Given the description of an element on the screen output the (x, y) to click on. 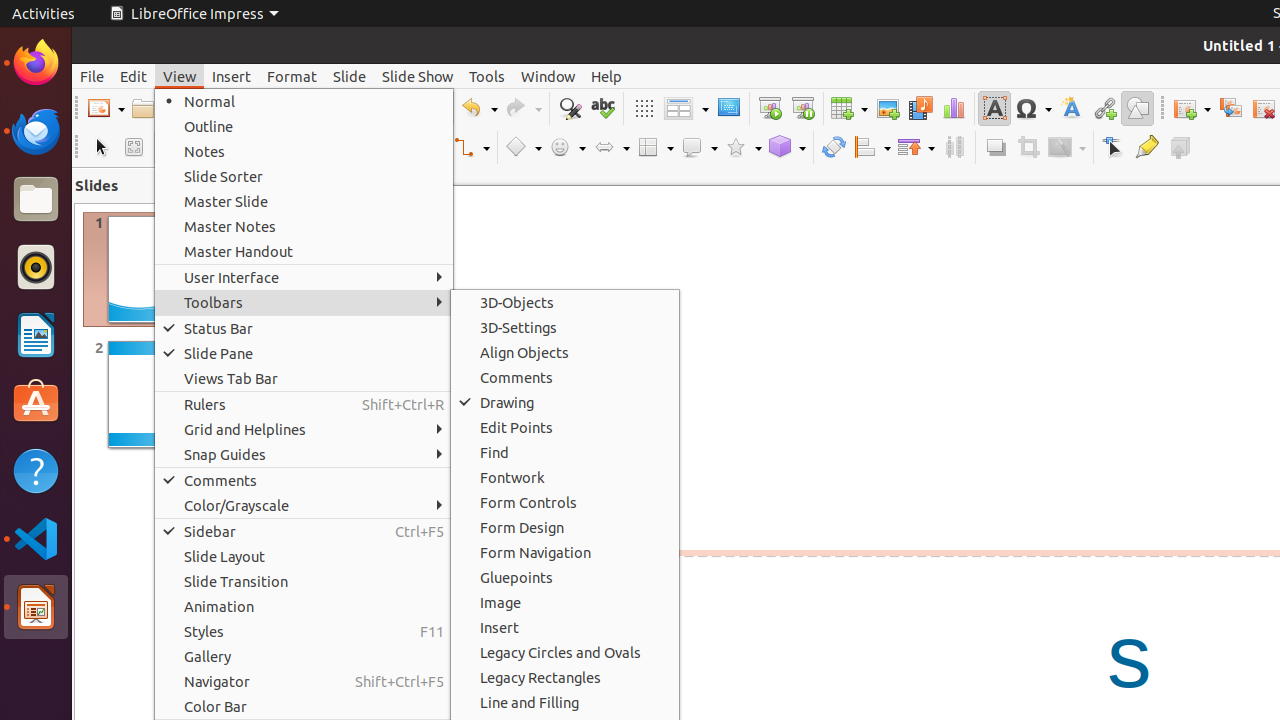
Align Objects Element type: check-menu-item (565, 352)
LibreOffice Impress Element type: push-button (36, 607)
Files Element type: push-button (36, 199)
Notes Element type: radio-menu-item (304, 151)
Slide Pane Element type: check-menu-item (304, 353)
